Given the description of an element on the screen output the (x, y) to click on. 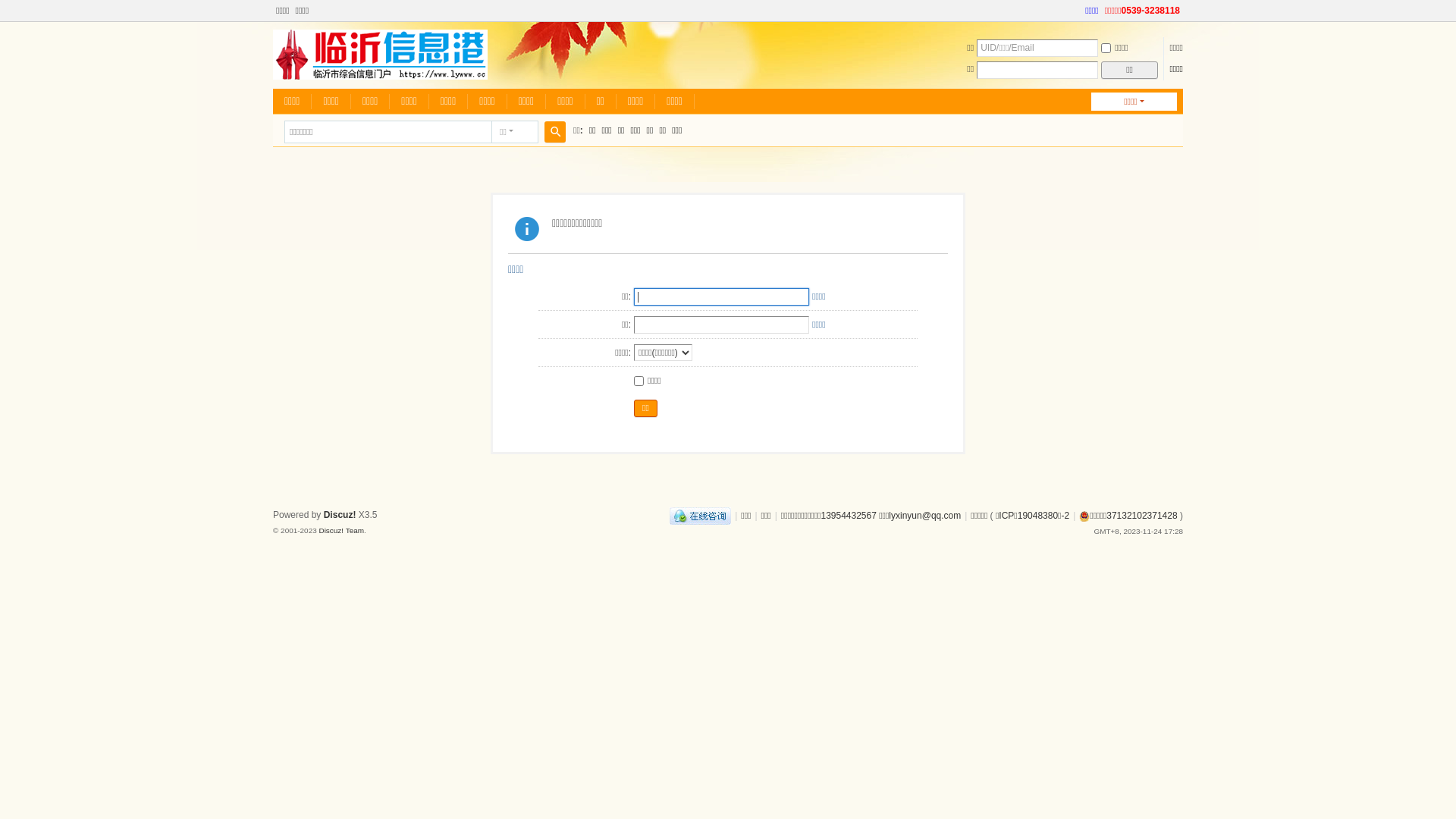
QQ Element type: hover (700, 515)
true Element type: text (554, 131)
Discuz! Team Element type: text (341, 530)
Discuz! Element type: text (339, 514)
